Given the description of an element on the screen output the (x, y) to click on. 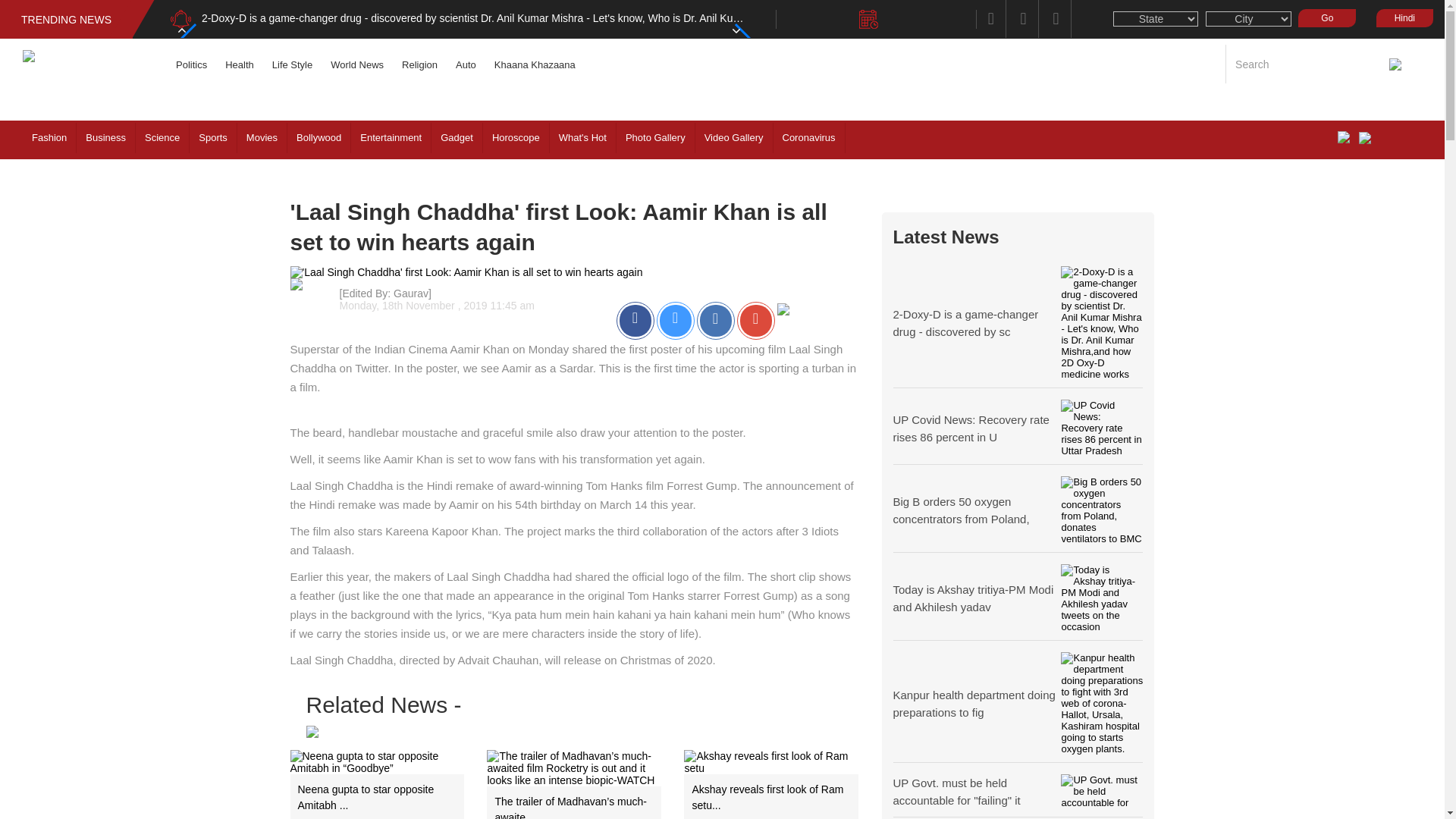
Hindi (1403, 18)
Politics (191, 64)
Health (239, 64)
Hindi (1400, 17)
Go (1326, 18)
